Given the description of an element on the screen output the (x, y) to click on. 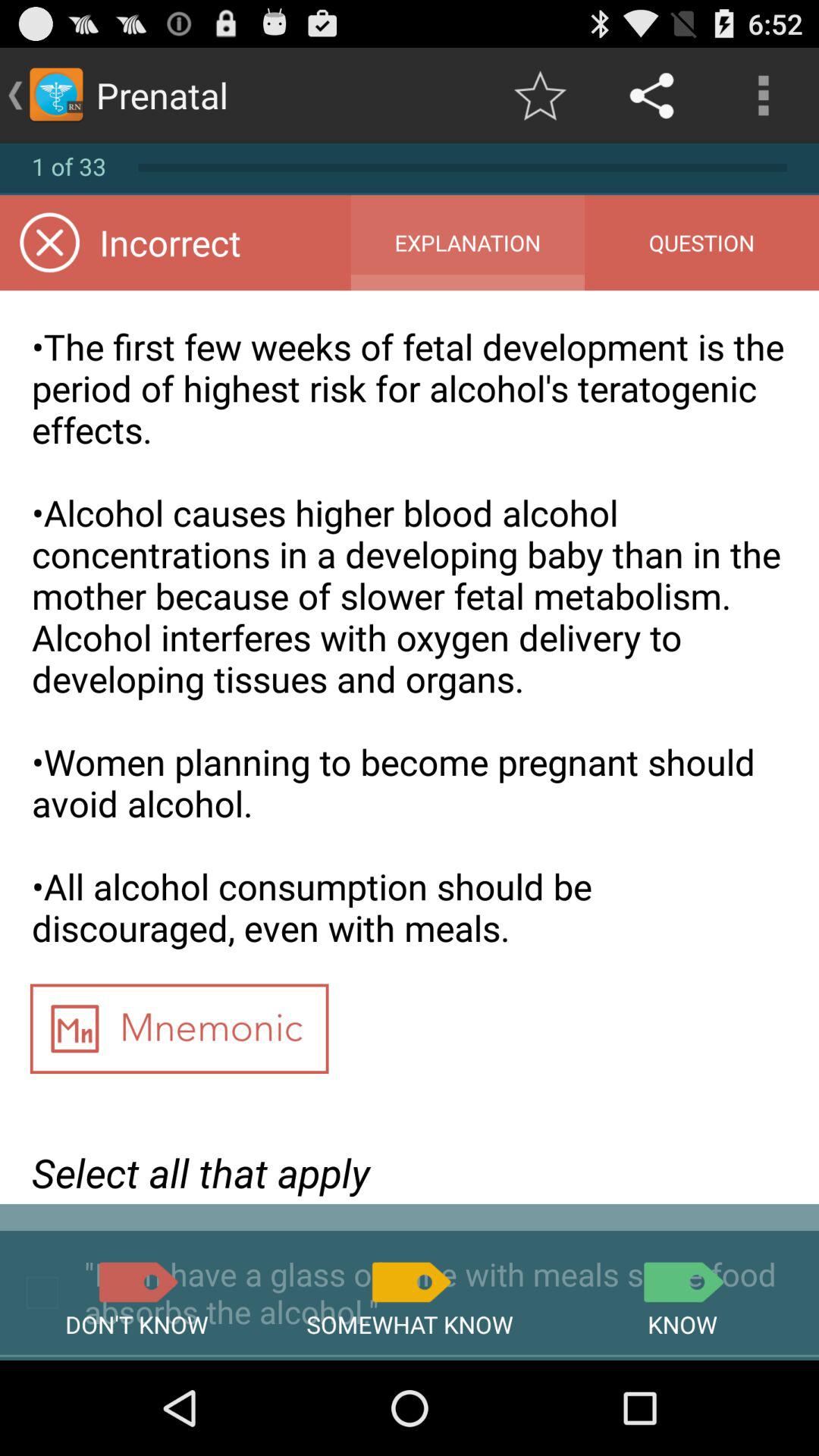
turn off icon to the left of question button (467, 242)
